Given the description of an element on the screen output the (x, y) to click on. 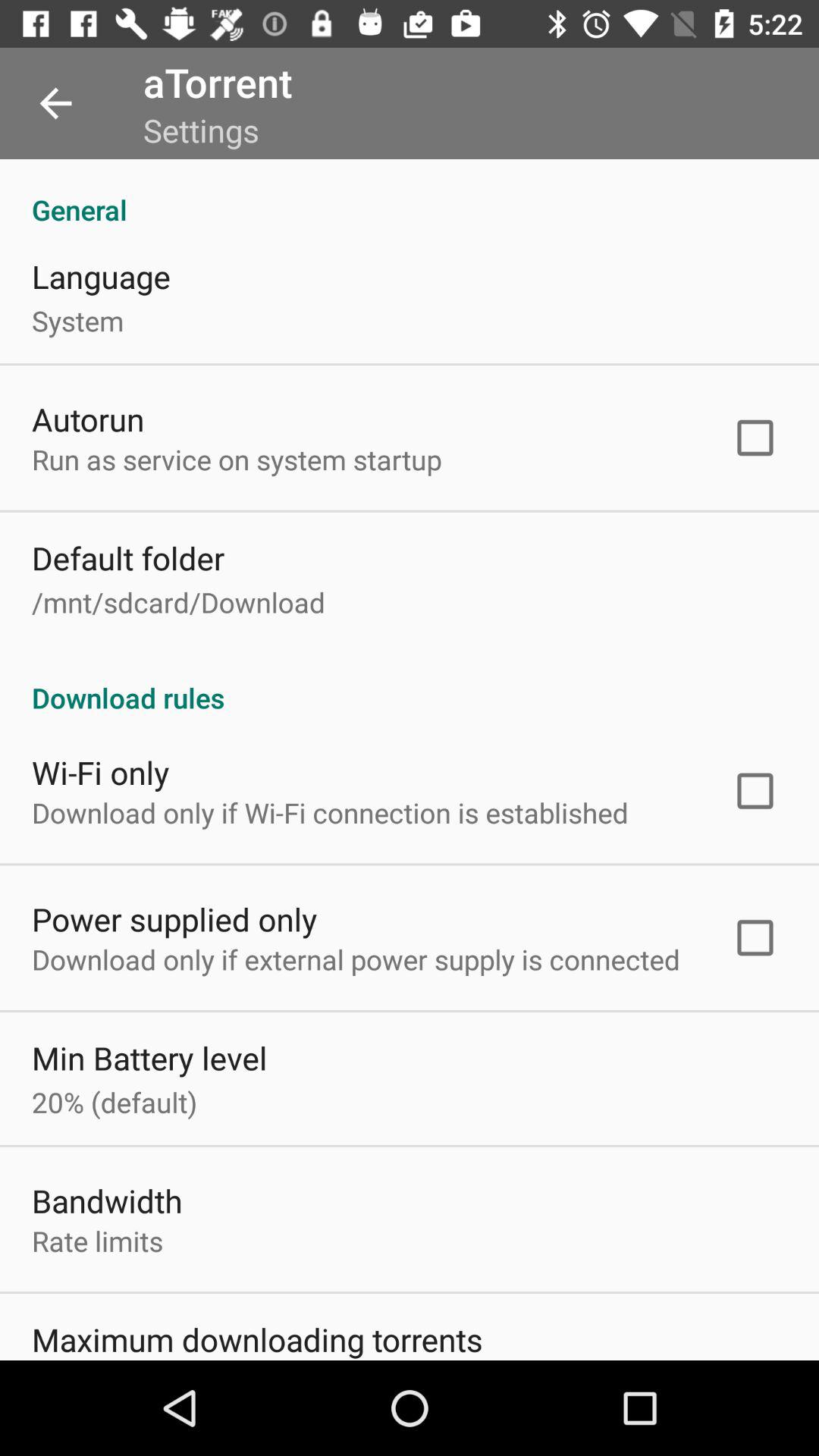
turn off the icon below /mnt/sdcard/download icon (409, 681)
